Given the description of an element on the screen output the (x, y) to click on. 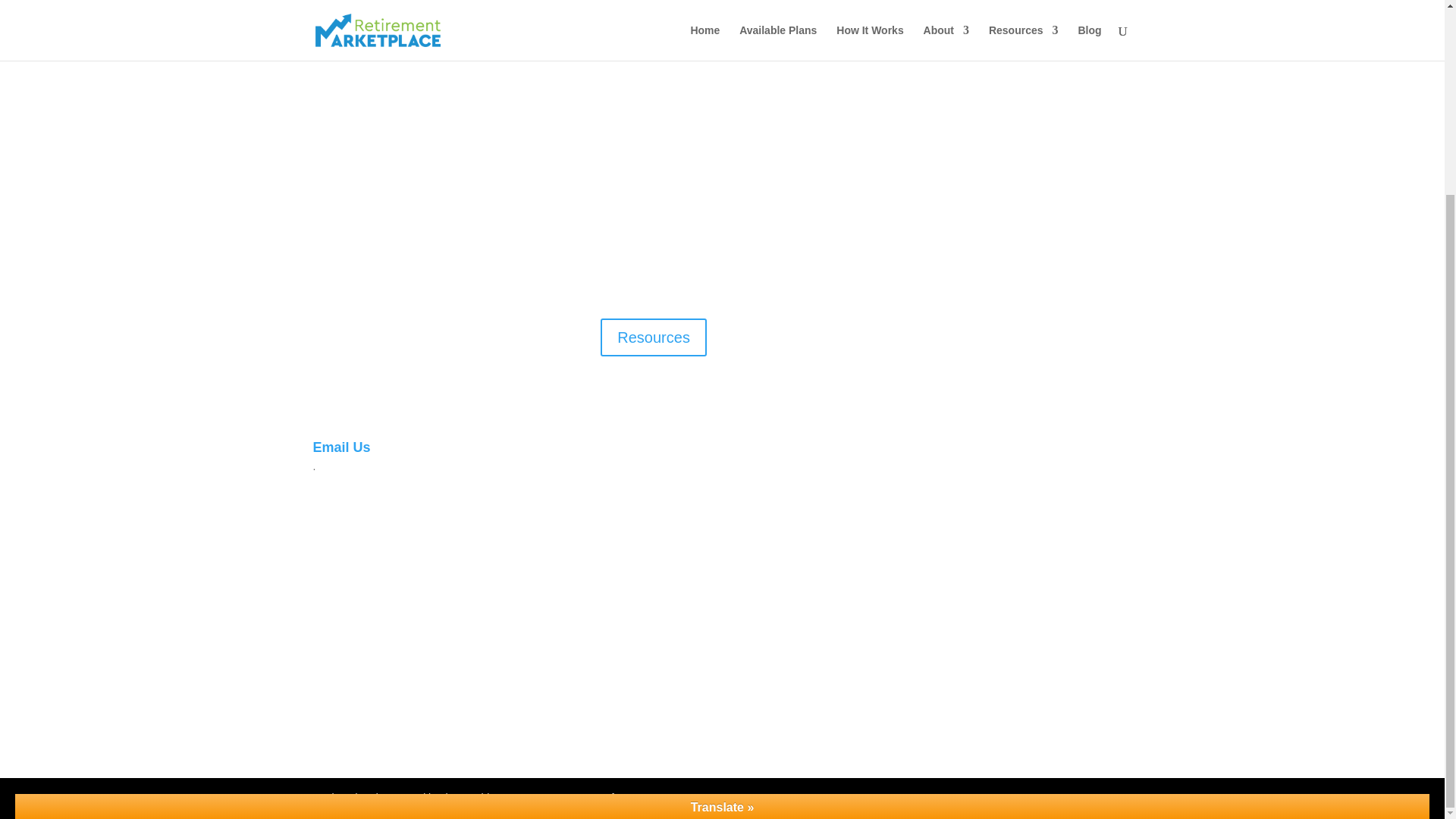
Resources (652, 337)
RMKT-REV-72 (462, 548)
Email Us (341, 447)
